Given the description of an element on the screen output the (x, y) to click on. 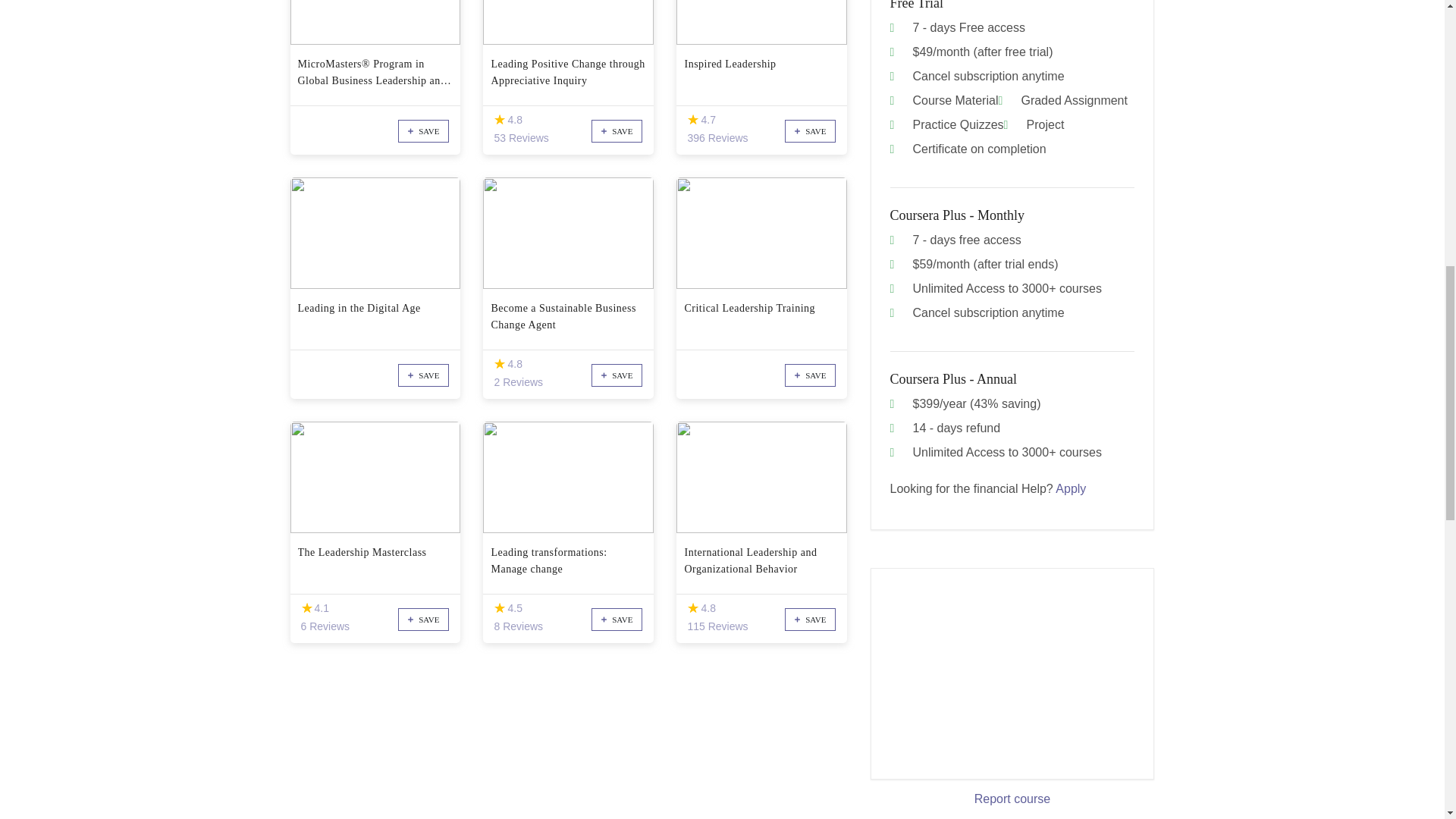
Leading Positive Change through Appreciative Inquiry (568, 72)
4.8 (692, 608)
Leading in the Digital Age (374, 316)
SAVE (809, 130)
4.1 (306, 608)
SAVE (616, 130)
Inspired Leadership (762, 72)
4.7 (692, 119)
4.8 (499, 119)
SAVE (422, 130)
4.5 (499, 608)
4.8 (499, 364)
